Given the description of an element on the screen output the (x, y) to click on. 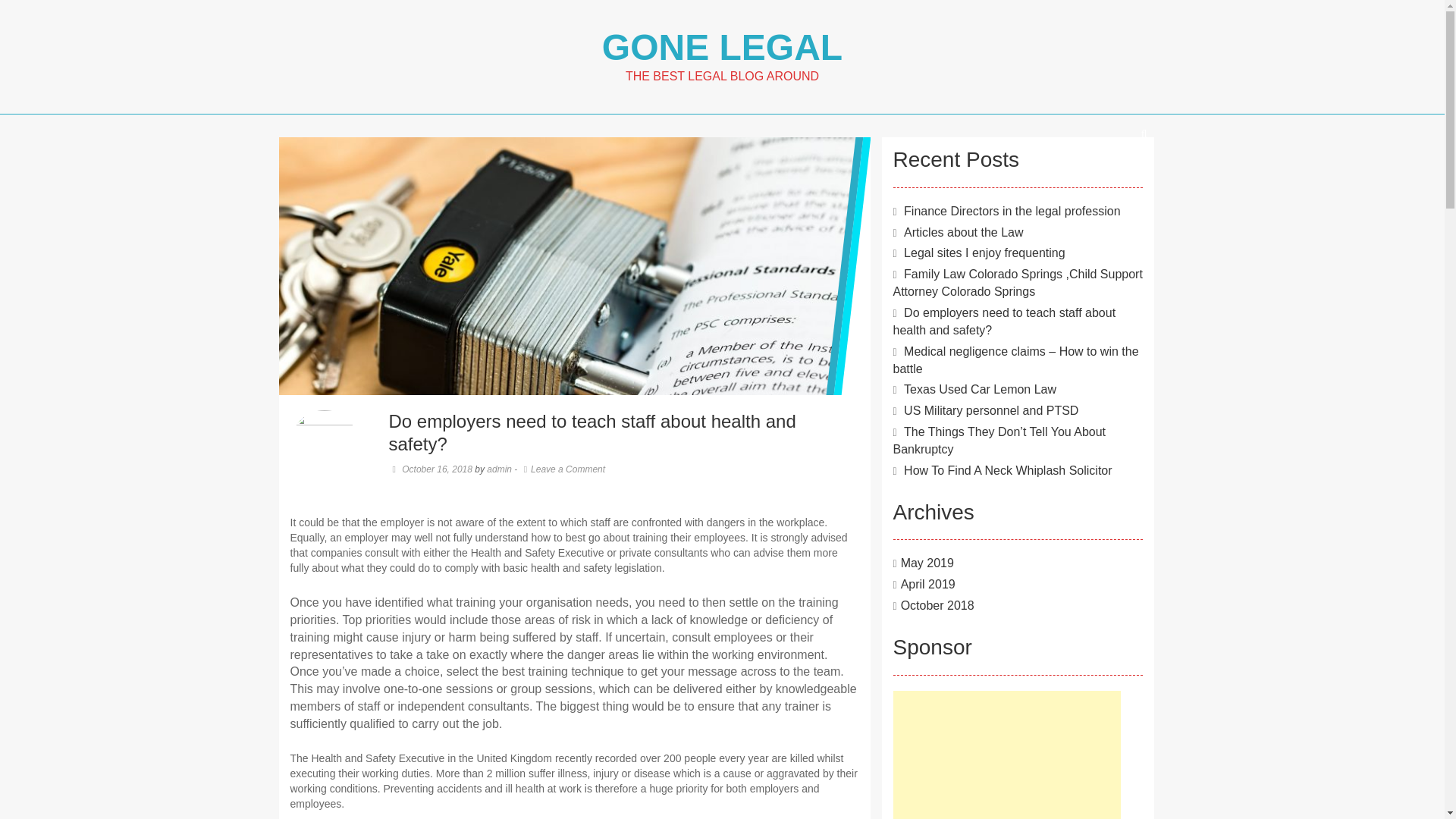
Texas Used Car Lemon Law (980, 389)
Legal sites I enjoy frequenting (984, 252)
GONE LEGAL (722, 47)
Finance Directors in the legal profession (1011, 210)
US Military personnel and PTSD (991, 410)
- Leave a Comment (559, 469)
October 16, 2018 (429, 469)
Articles about the Law (963, 232)
Do employers need to teach staff about health and safety? (574, 345)
admin (499, 469)
Do employers need to teach staff about health and safety? (1004, 321)
